Given the description of an element on the screen output the (x, y) to click on. 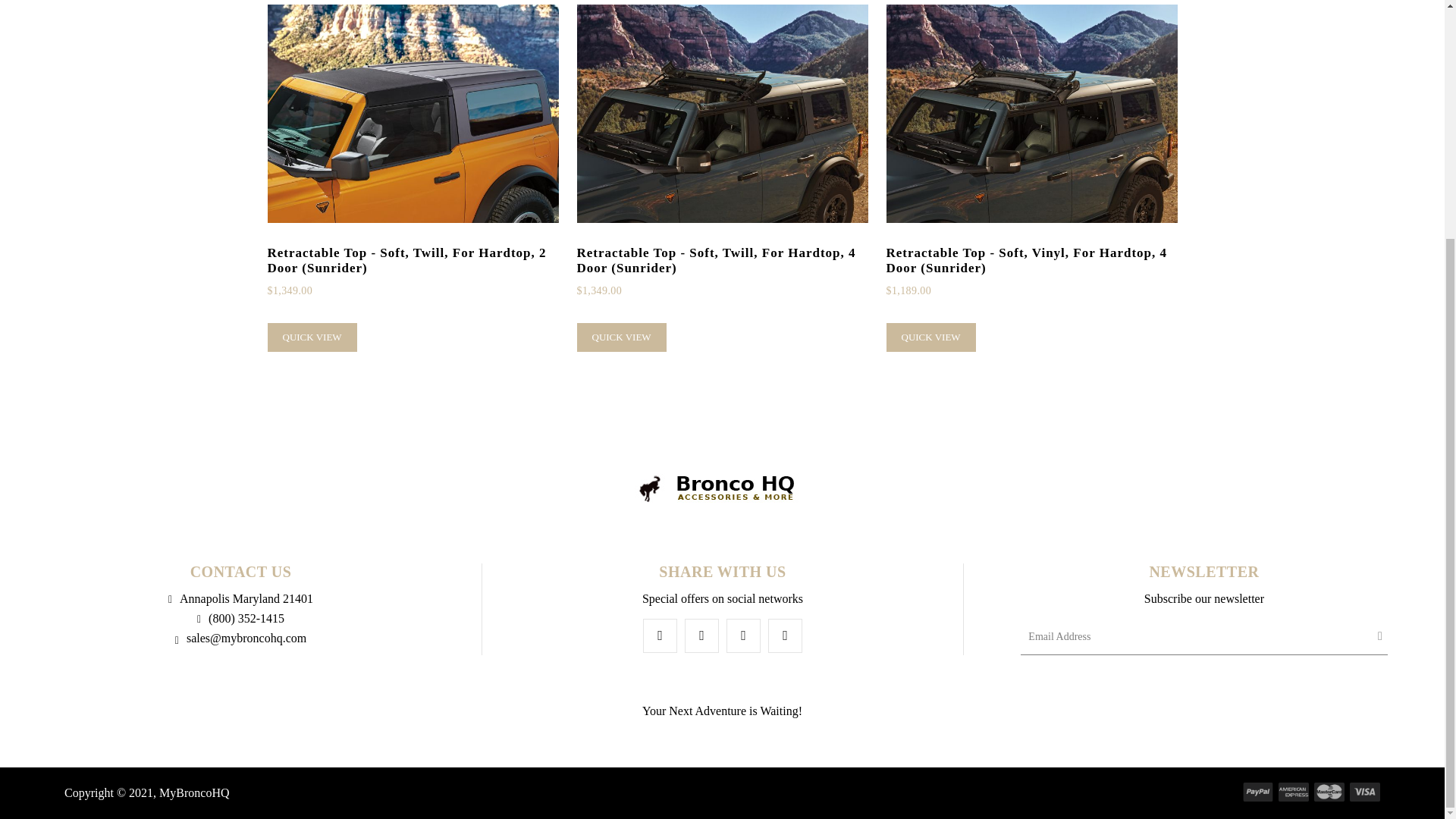
Submit (1380, 636)
